Given the description of an element on the screen output the (x, y) to click on. 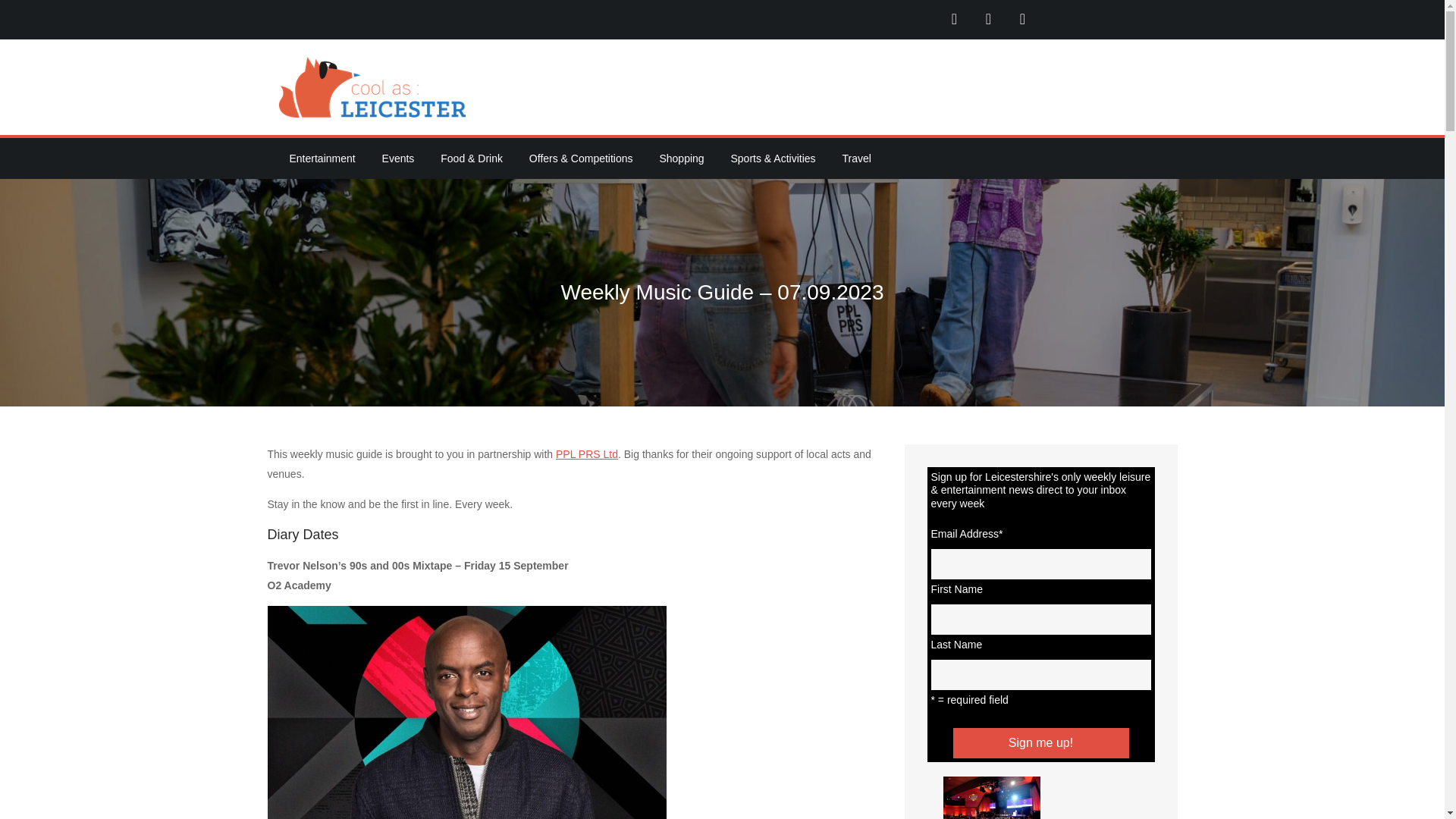
Sign me up! (1040, 743)
COOL AS LEICESTER (572, 98)
Travel (855, 158)
Sign me up! (1040, 743)
PPL PRS Ltd (586, 453)
Shopping (680, 158)
Entertainment (322, 158)
Events (398, 158)
